Given the description of an element on the screen output the (x, y) to click on. 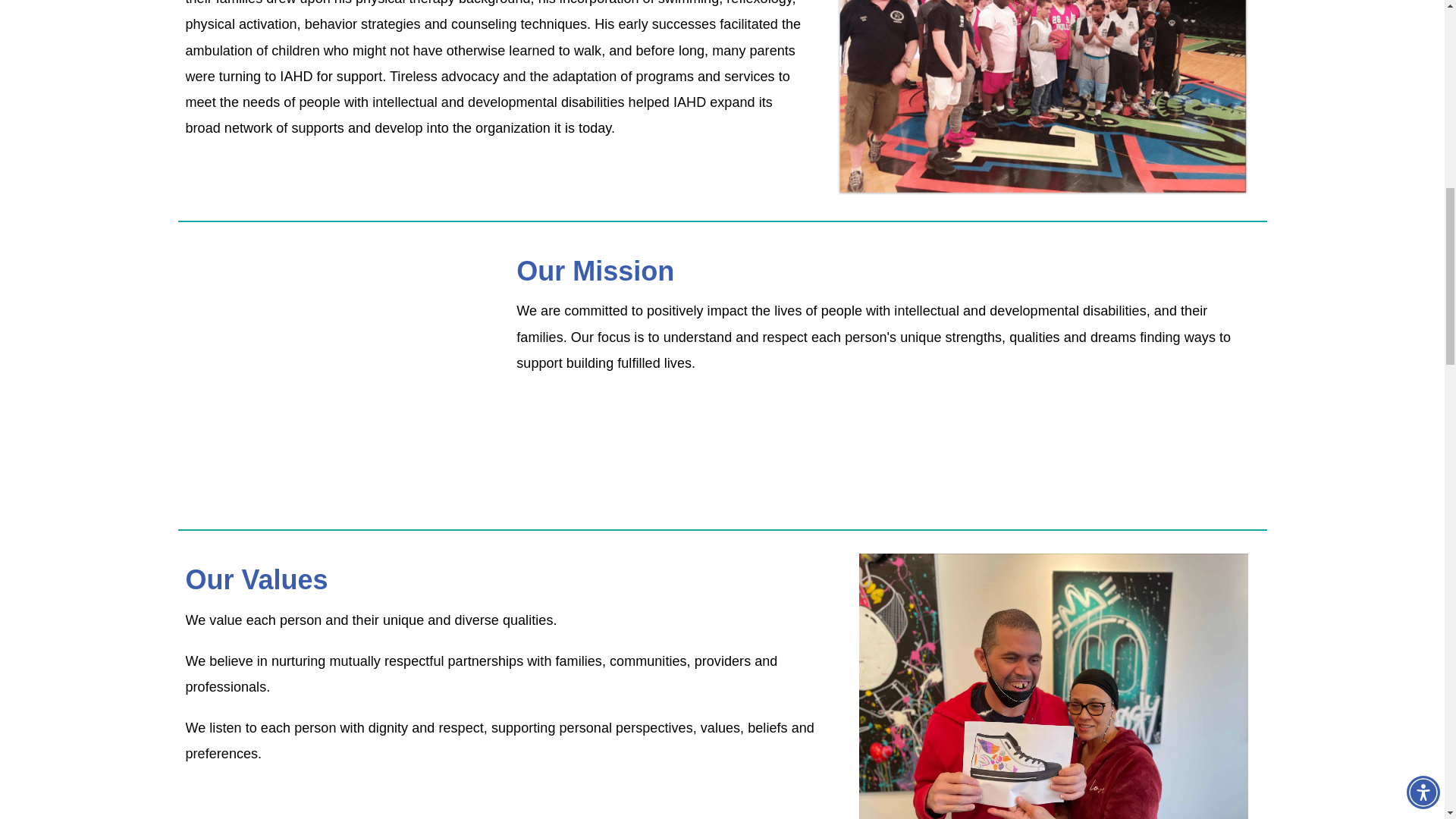
On The Swing (335, 373)
Miracle League (1042, 97)
